Given the description of an element on the screen output the (x, y) to click on. 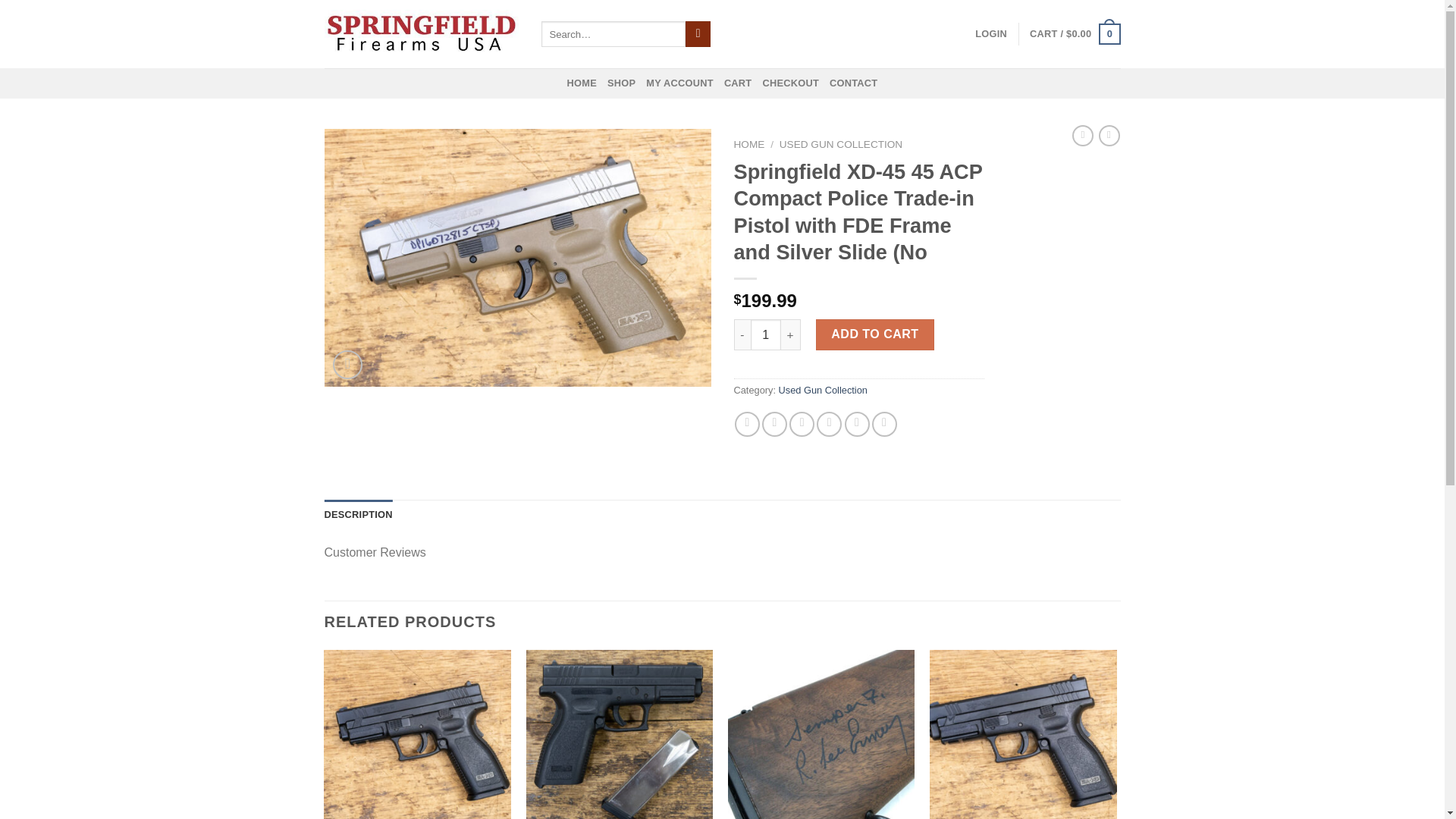
SHOP (620, 82)
Qty (765, 334)
ADD TO CART (874, 334)
77945-DEFAULT-l (517, 257)
Springfield Gun Shop - Just another WordPress site (421, 33)
CONTACT (853, 82)
CART (737, 82)
Cart (1074, 34)
DESCRIPTION (358, 514)
LOGIN (991, 33)
1 (765, 334)
MY ACCOUNT (679, 82)
CHECKOUT (789, 82)
HOME (581, 82)
Used Gun Collection (822, 389)
